Given the description of an element on the screen output the (x, y) to click on. 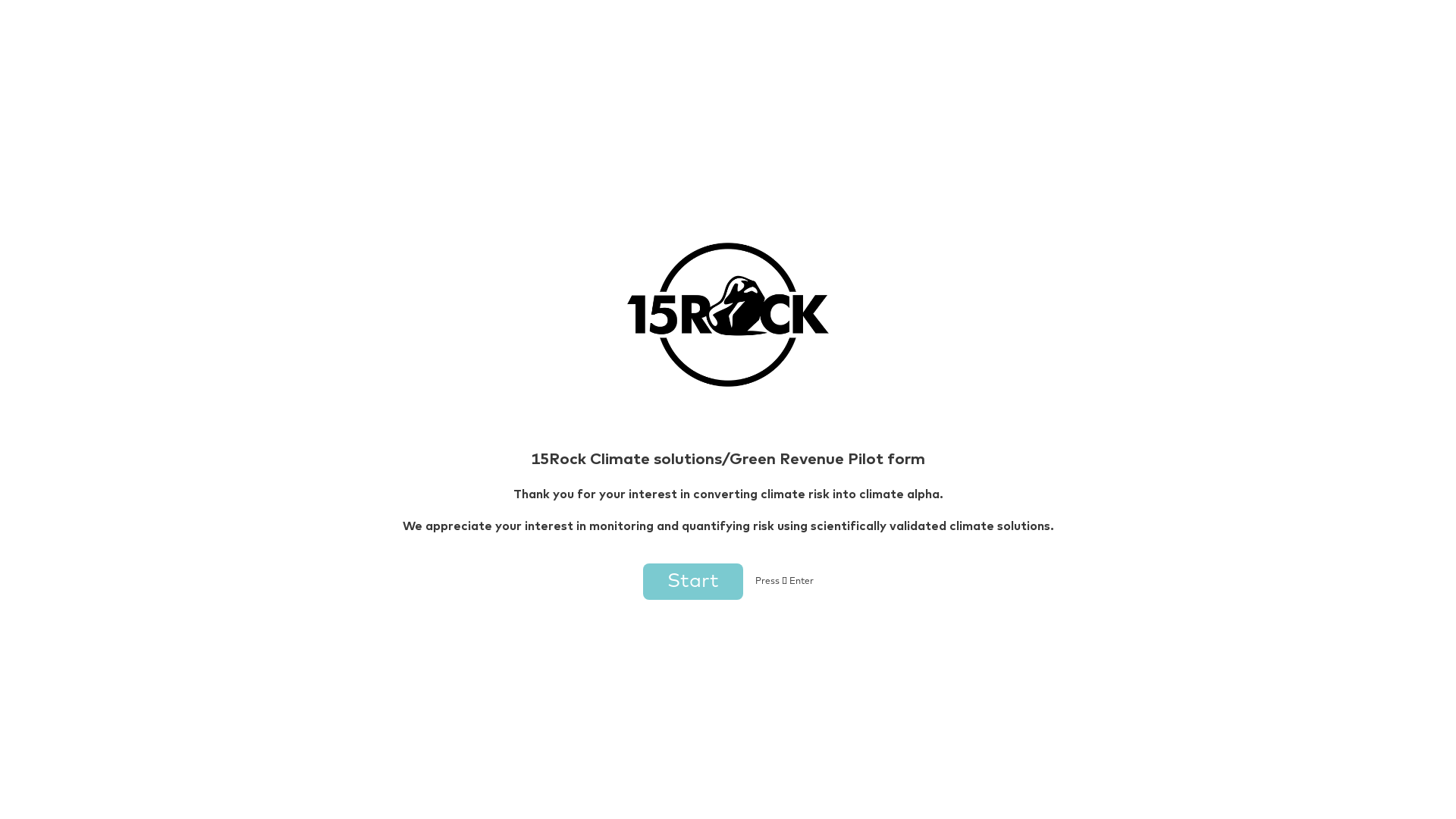
Start Element type: text (695, 470)
